Given the description of an element on the screen output the (x, y) to click on. 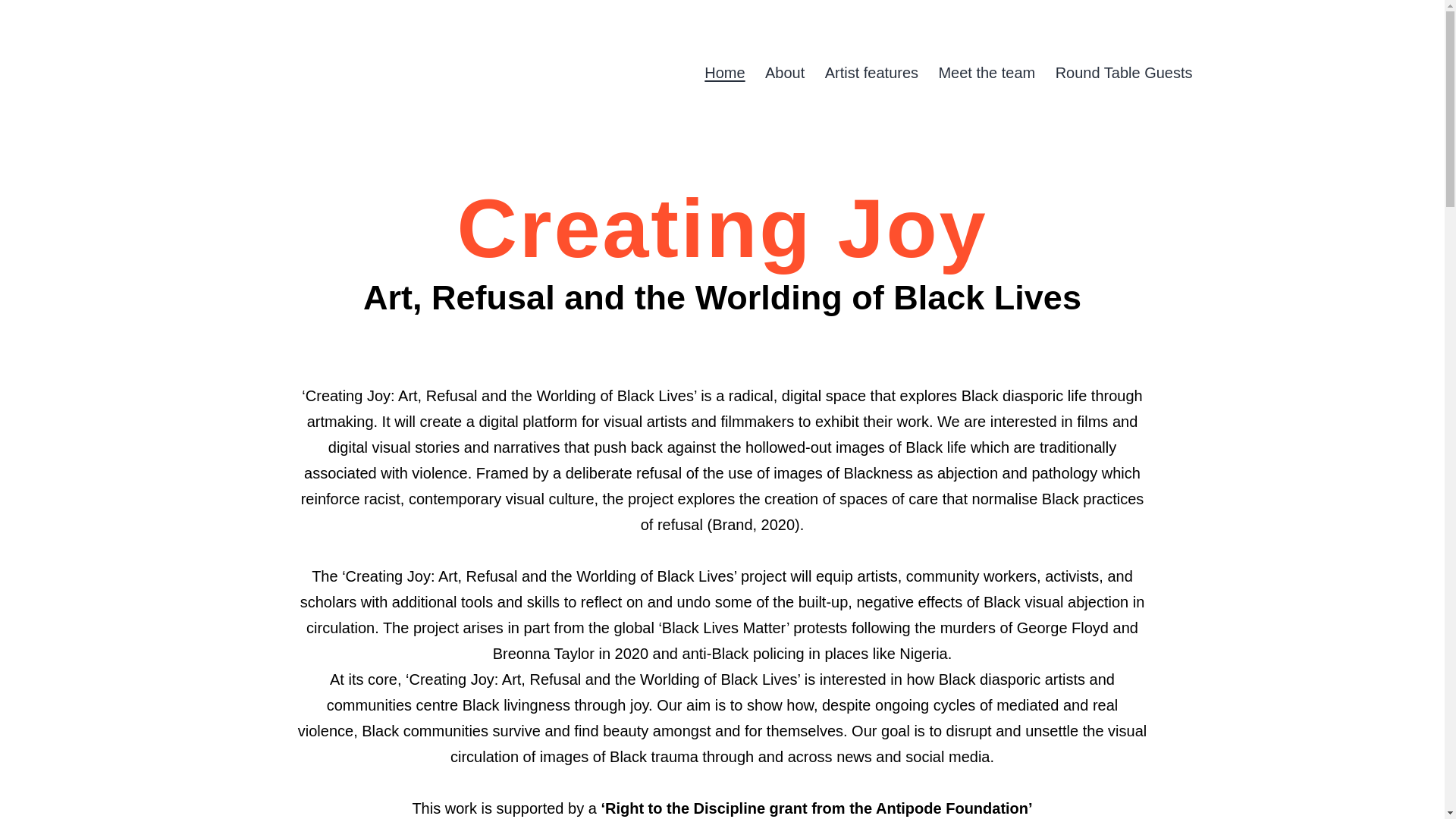
Meet the team (986, 72)
Home (724, 72)
Round Table Guests (1123, 72)
About (785, 72)
Artist features (870, 72)
